Given the description of an element on the screen output the (x, y) to click on. 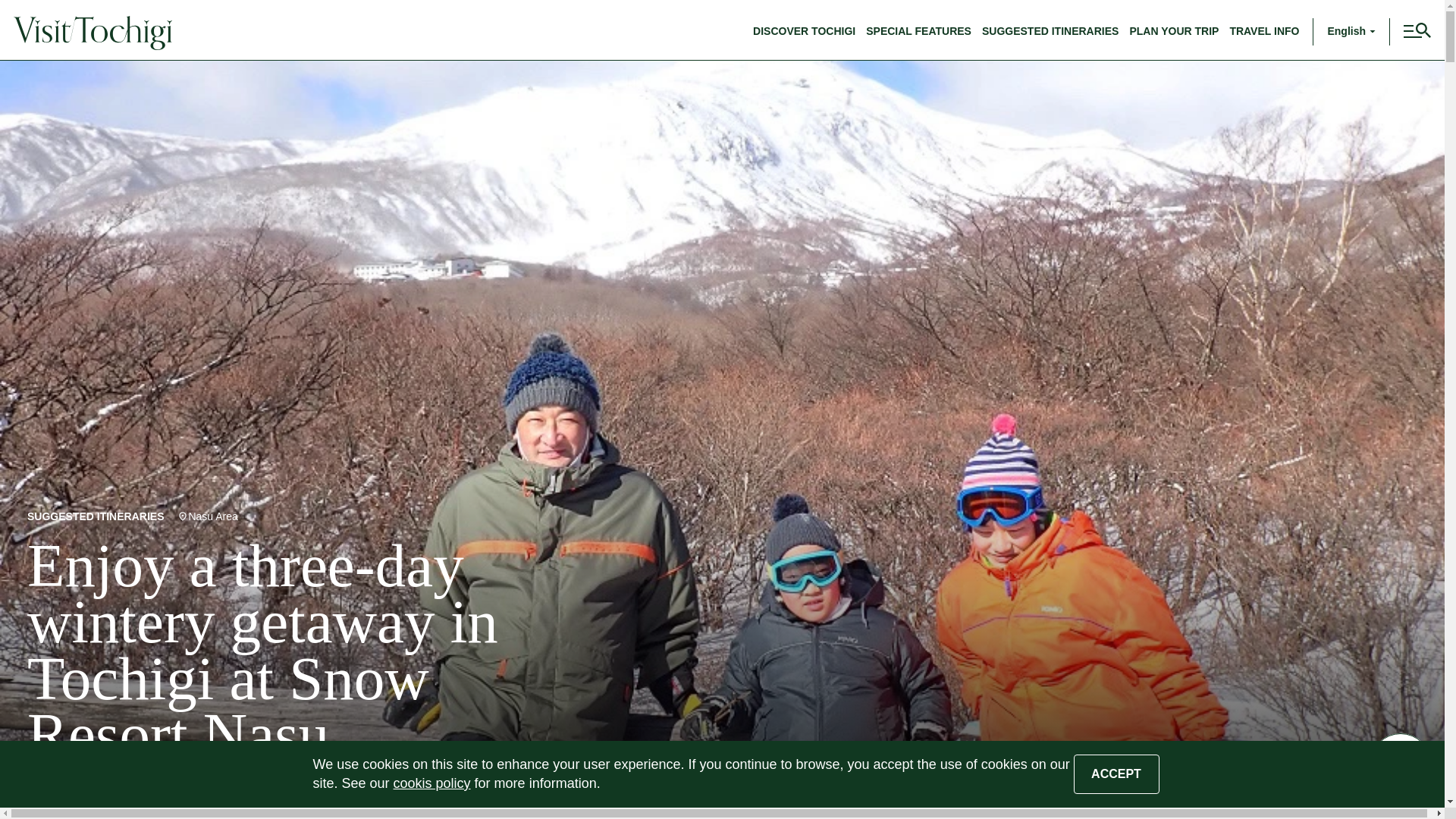
DISCOVER TOCHIGI (804, 30)
SUGGESTED ITINERARIES (1049, 30)
English (1351, 31)
PLAN YOUR TRIP (1173, 30)
TRAVEL INFO (1263, 30)
SPECIAL FEATURES (918, 30)
